Given the description of an element on the screen output the (x, y) to click on. 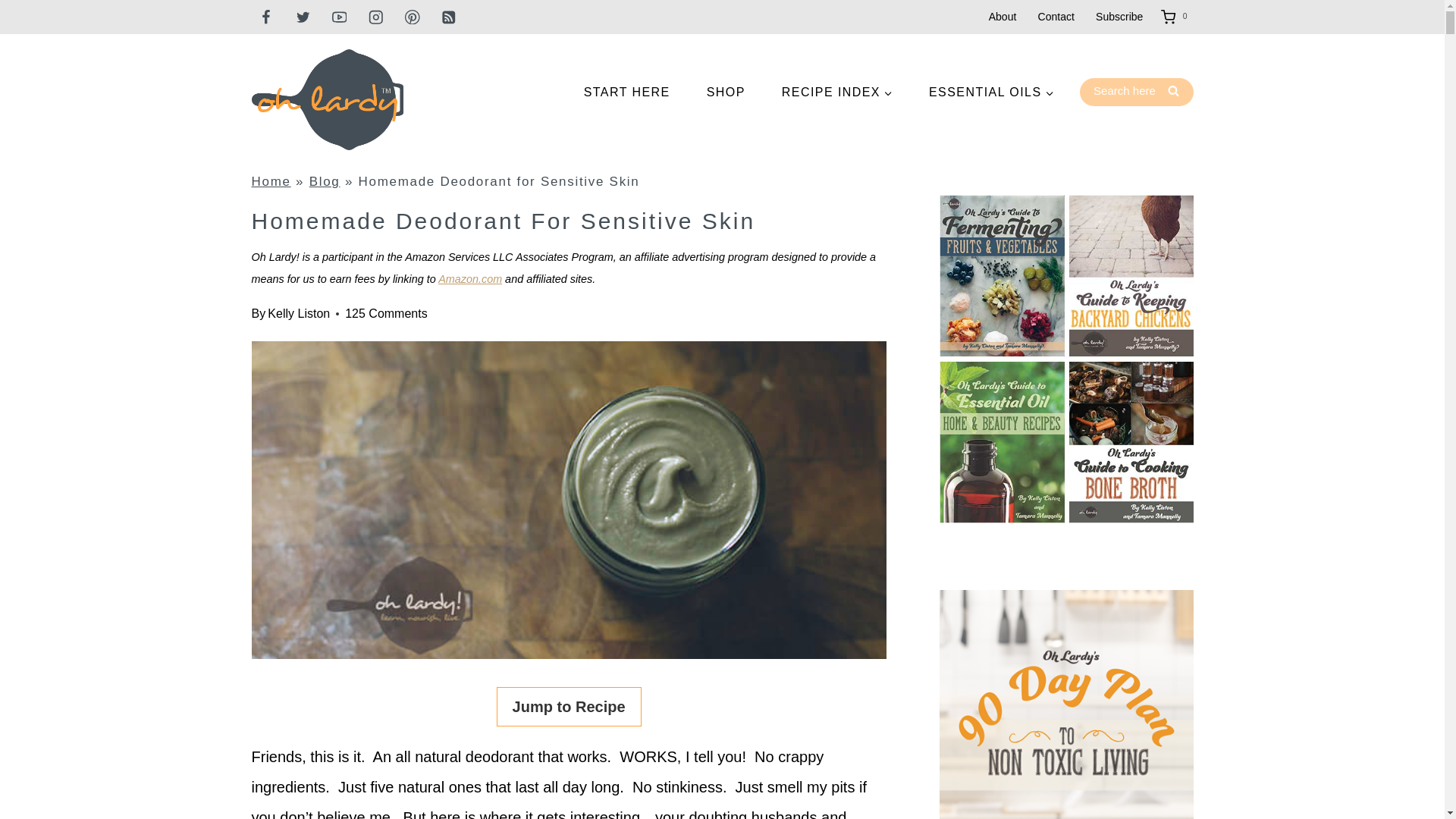
RECIPE INDEX (836, 92)
0 (1176, 16)
About (1002, 17)
ESSENTIAL OILS (991, 92)
Subscribe (1119, 17)
START HERE (627, 92)
Contact (1055, 17)
SHOP (725, 92)
125 Comments (386, 313)
